Given the description of an element on the screen output the (x, y) to click on. 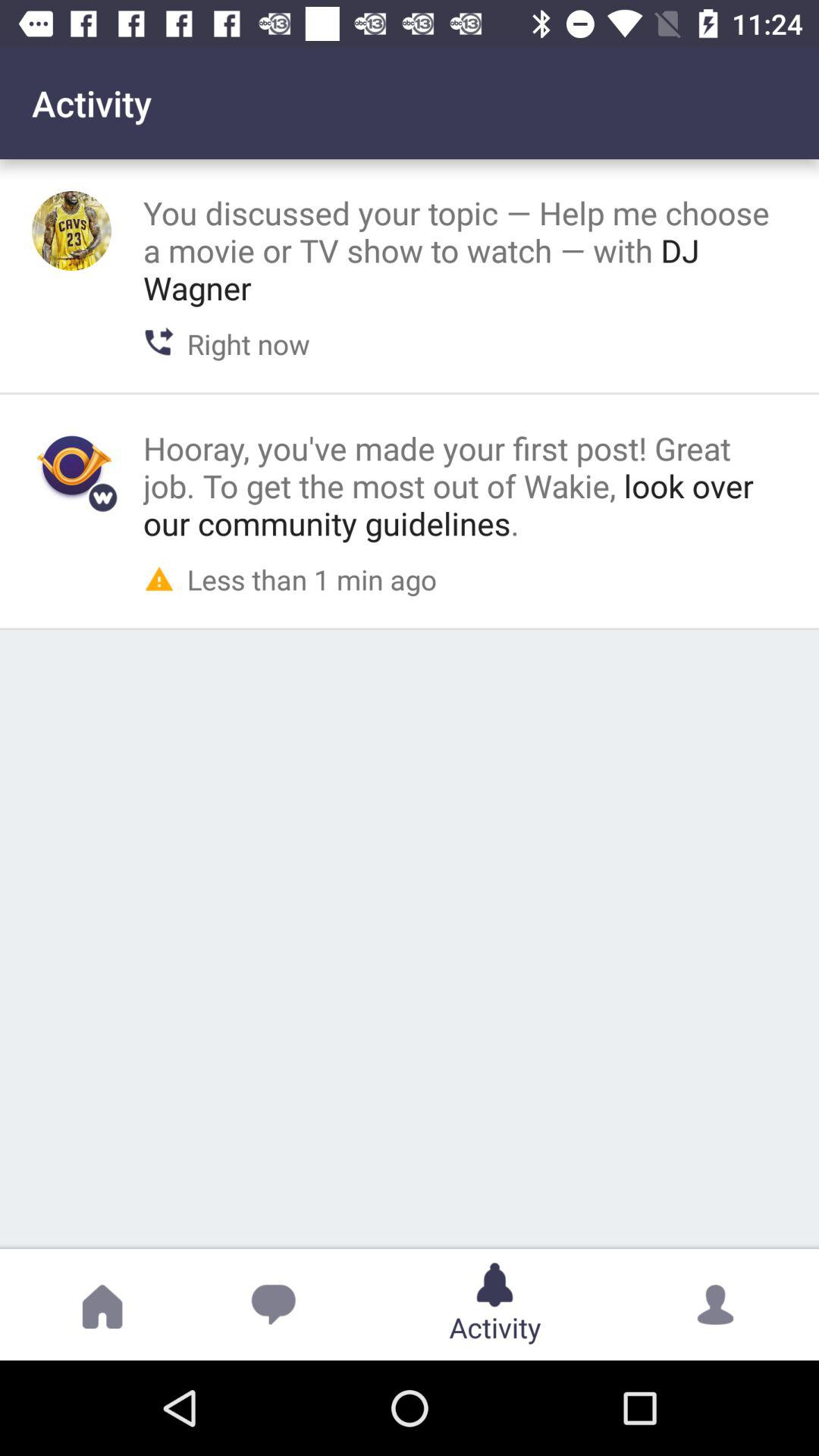
show the profile picture (71, 230)
